Given the description of an element on the screen output the (x, y) to click on. 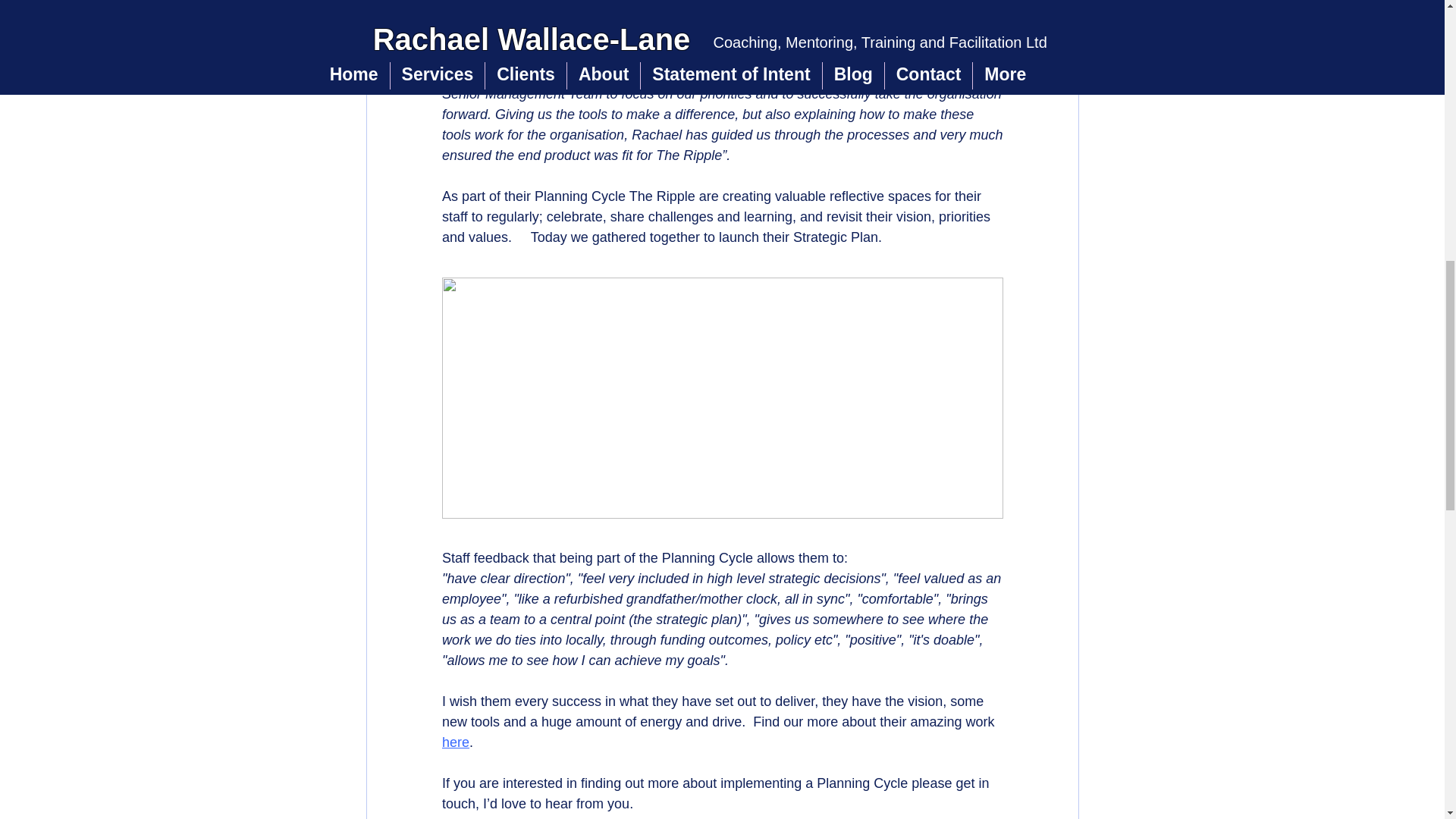
here (454, 742)
